Given the description of an element on the screen output the (x, y) to click on. 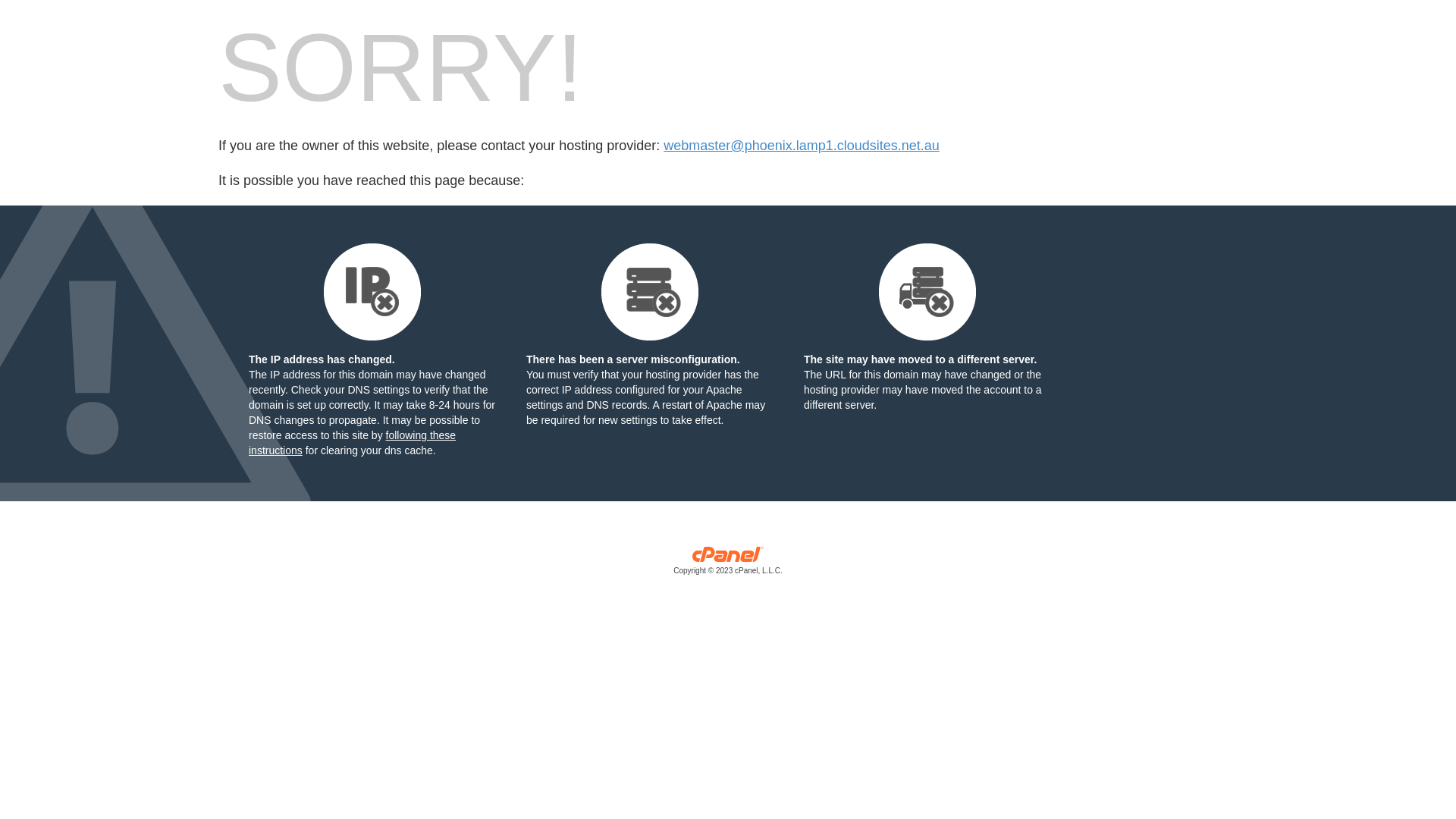
following these instructions Element type: text (351, 442)
webmaster@phoenix.lamp1.cloudsites.net.au Element type: text (800, 145)
